Given the description of an element on the screen output the (x, y) to click on. 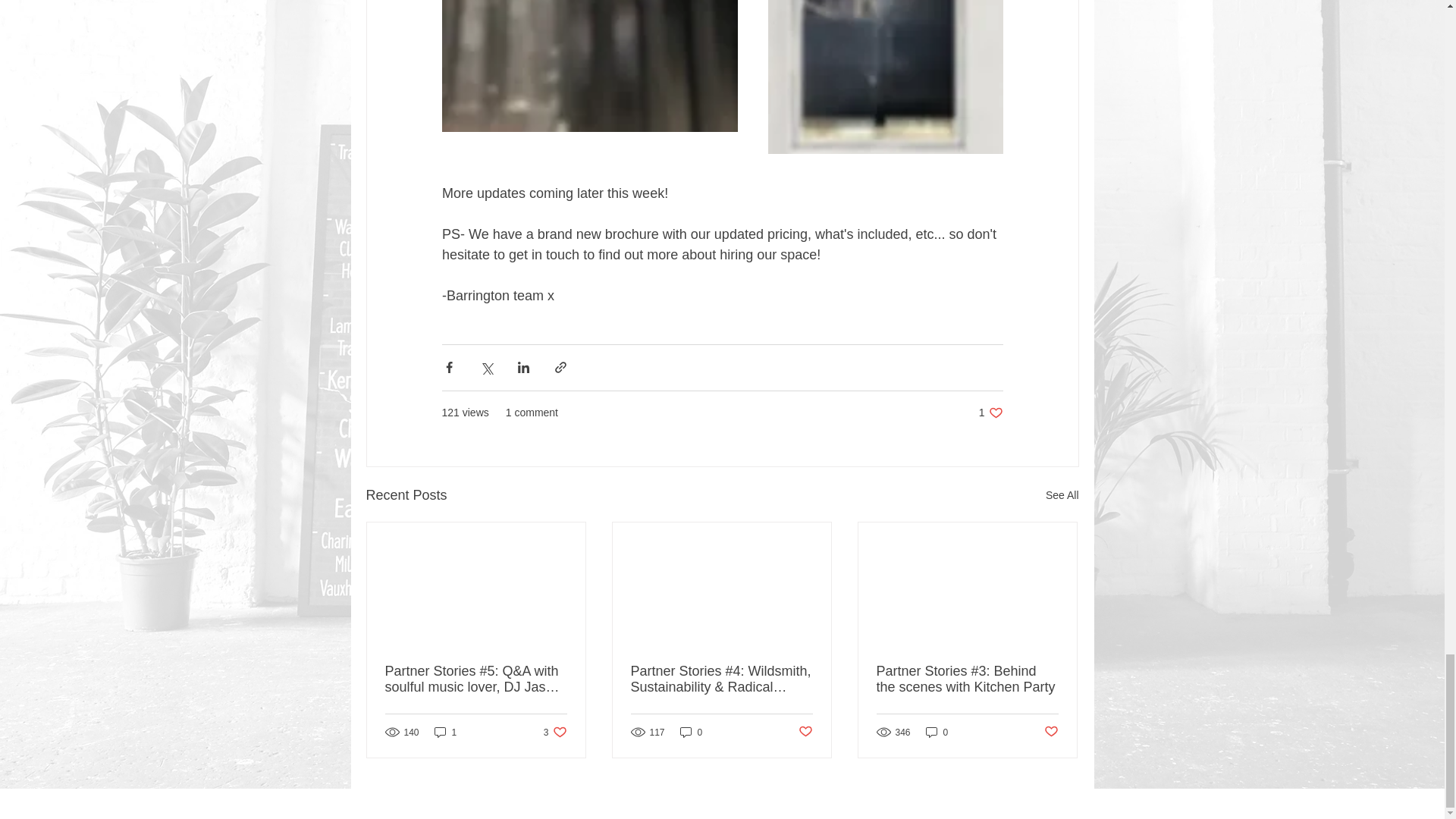
Post not marked as liked (1050, 731)
1 (555, 731)
See All (445, 731)
0 (1061, 495)
0 (937, 731)
Post not marked as liked (691, 731)
